Given the description of an element on the screen output the (x, y) to click on. 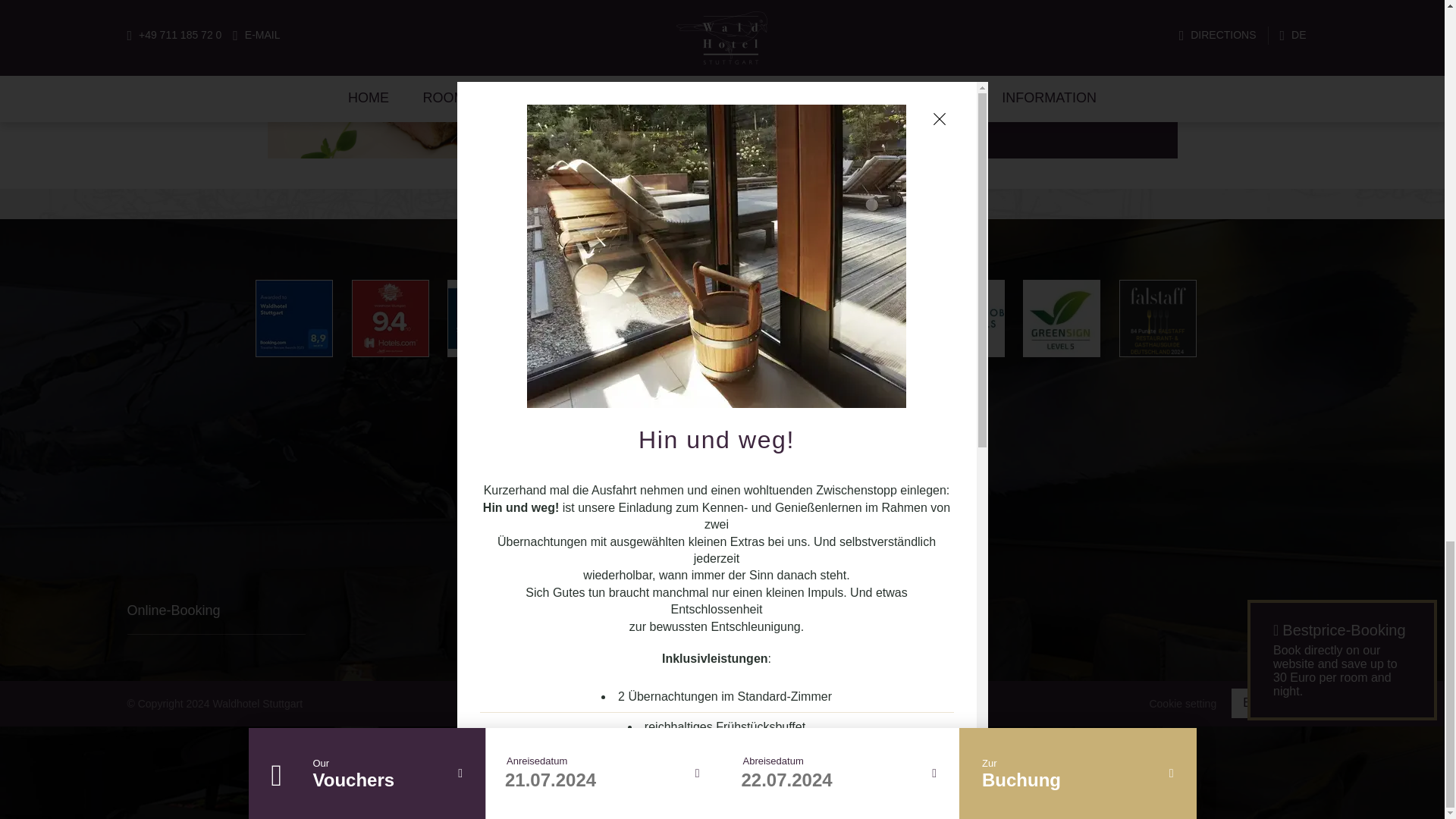
newsletter2 (708, 448)
Privacy Policy (829, 524)
newsletter1 (575, 448)
